Given the description of an element on the screen output the (x, y) to click on. 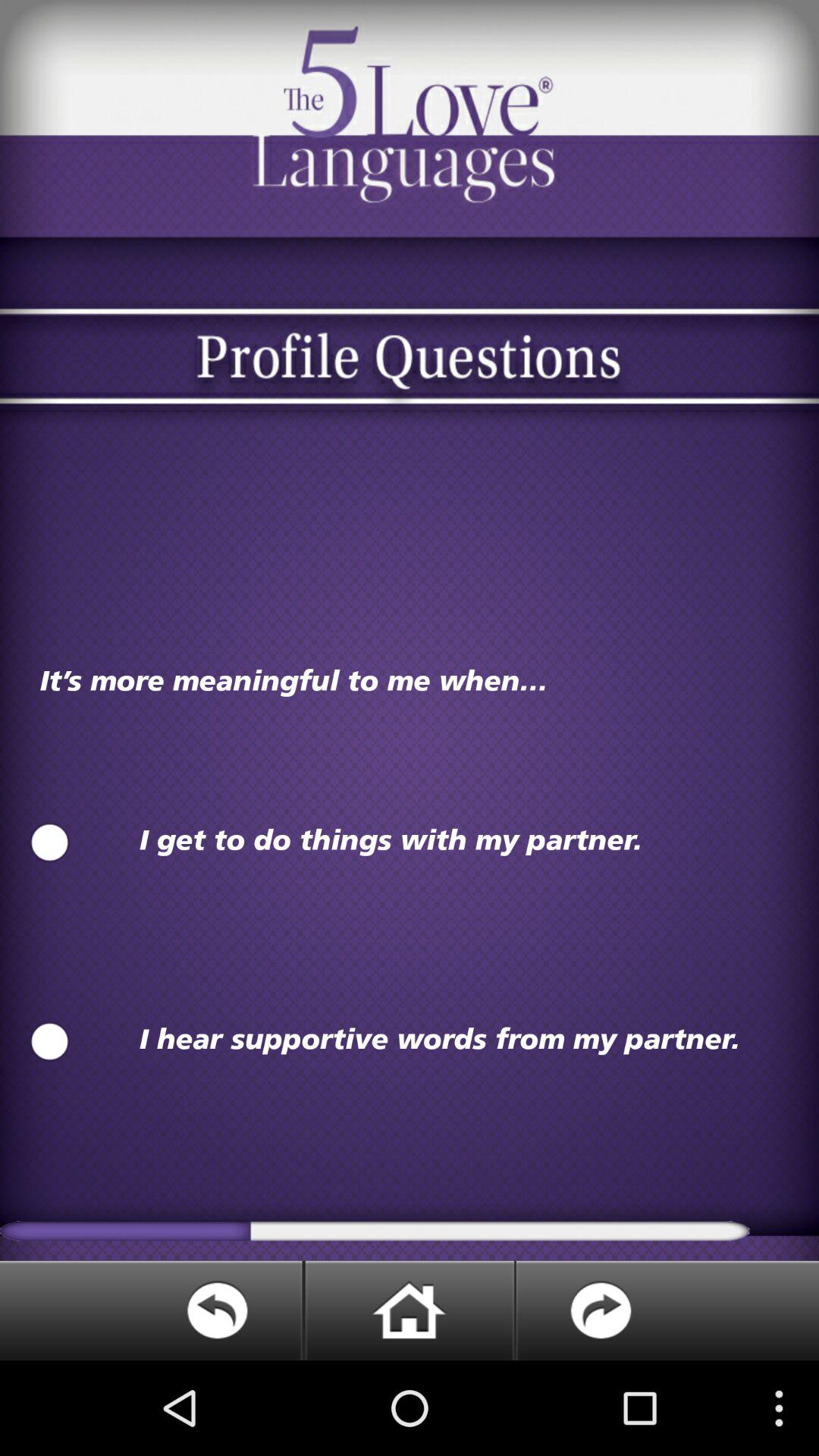
go to next page (667, 1310)
